Given the description of an element on the screen output the (x, y) to click on. 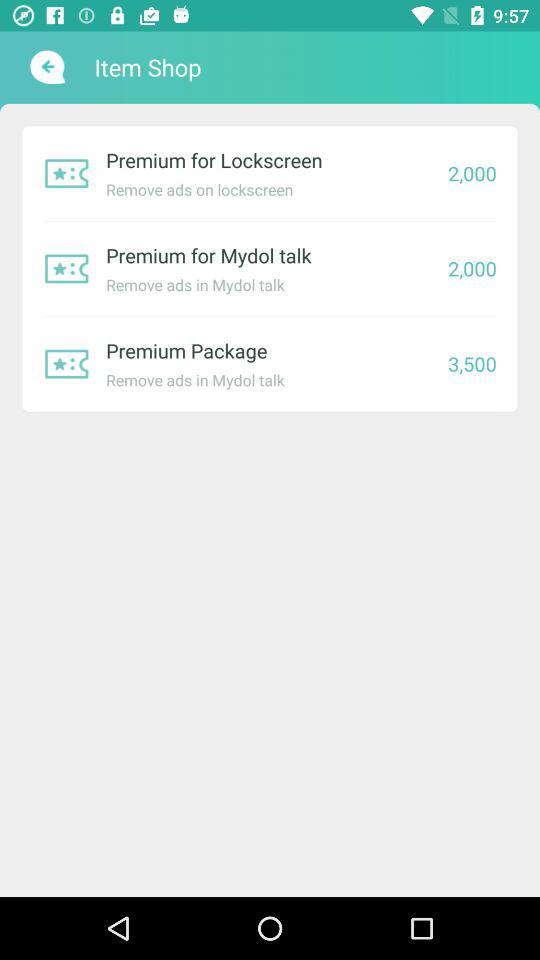
go back (45, 67)
